Given the description of an element on the screen output the (x, y) to click on. 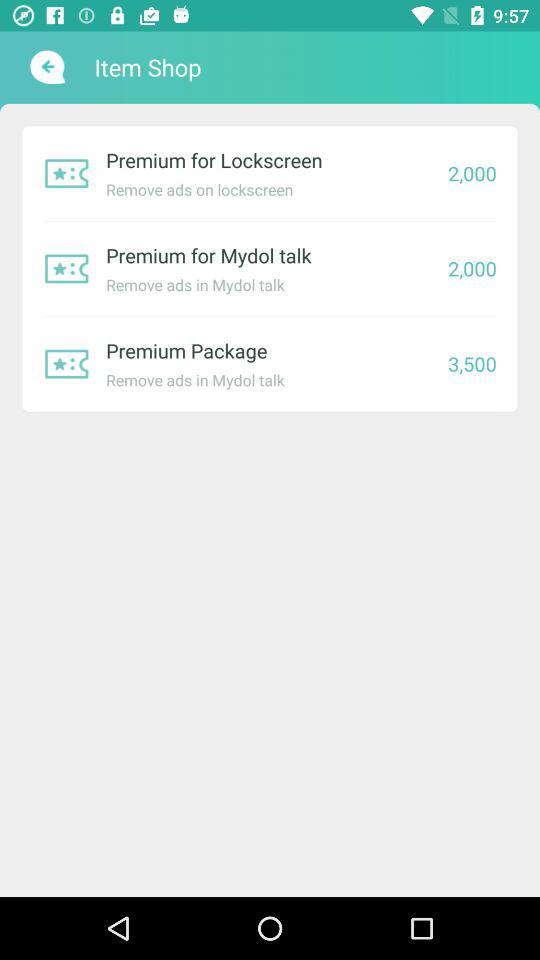
go back (45, 67)
